Given the description of an element on the screen output the (x, y) to click on. 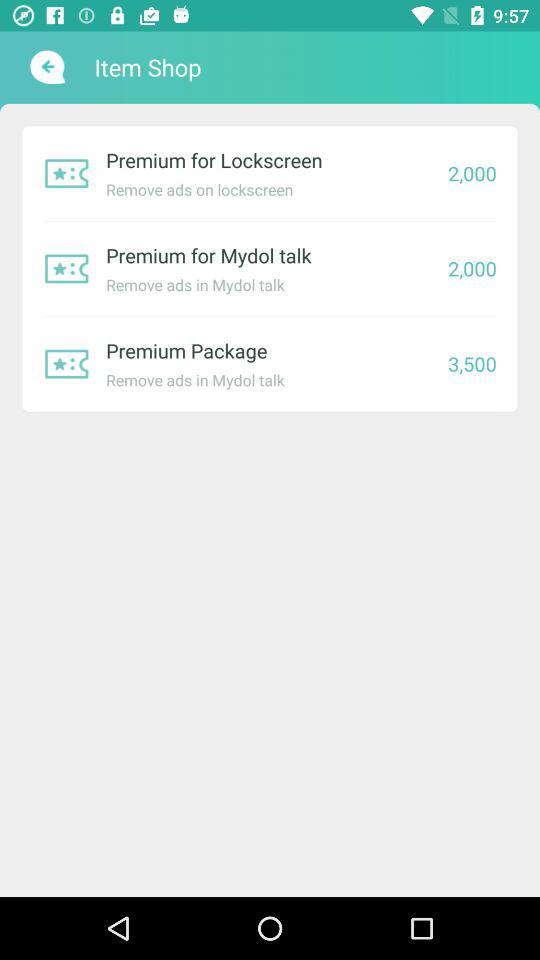
go back (45, 67)
